Given the description of an element on the screen output the (x, y) to click on. 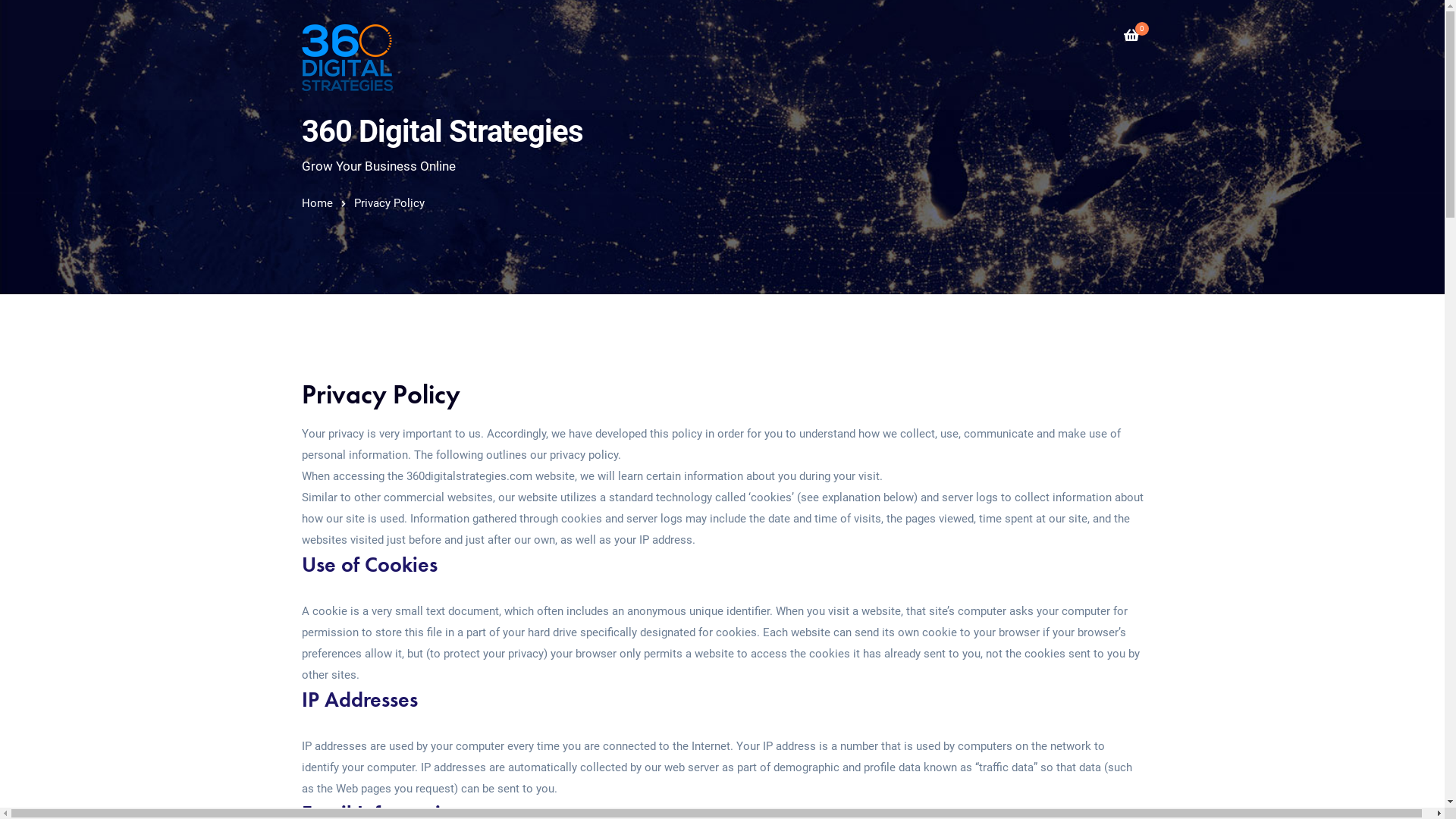
0 Element type: text (1131, 39)
Home Element type: text (316, 203)
